Given the description of an element on the screen output the (x, y) to click on. 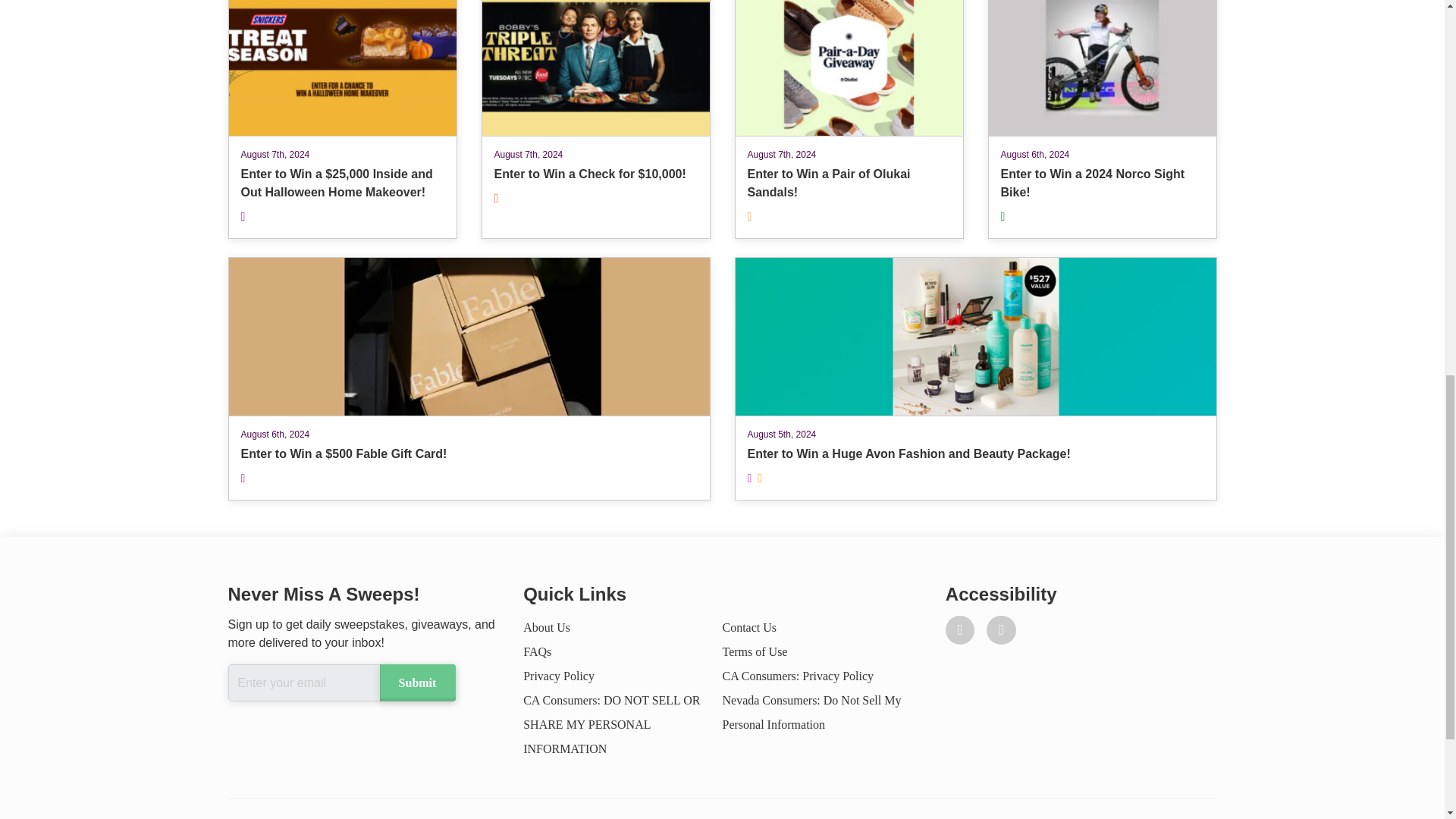
Contact Us (1101, 119)
Privacy Policy (749, 626)
CA Consumers: Privacy Policy (558, 675)
Submit (797, 675)
FAQs (416, 682)
About Us (536, 651)
Terms of Use (546, 626)
